Given the description of an element on the screen output the (x, y) to click on. 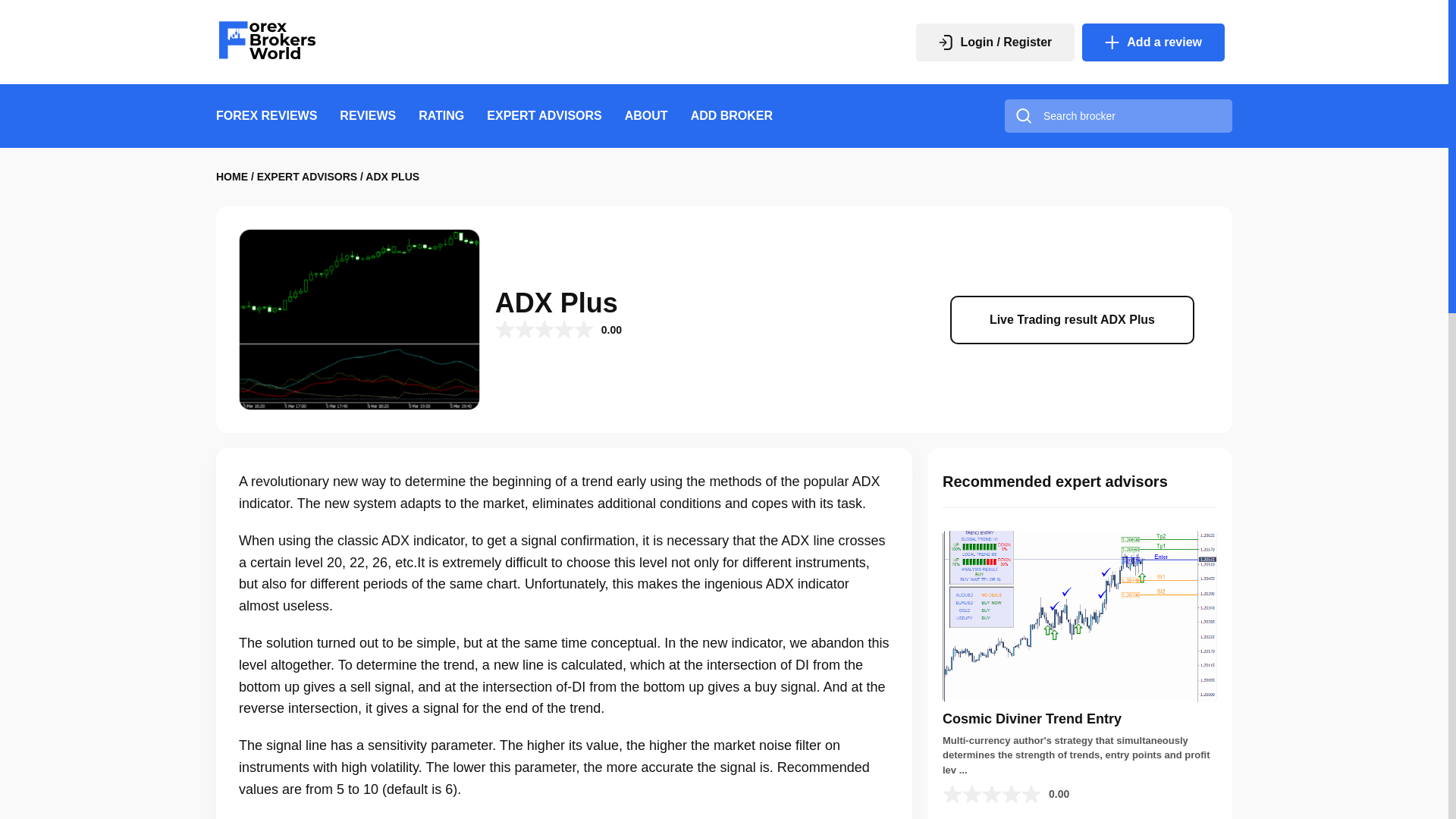
FOREX REVIEWS (266, 115)
Add a review (1152, 42)
Live Trading result ADX Plus (1071, 319)
RATING (441, 115)
HOME (231, 176)
ABOUT (646, 115)
ADD BROKER (731, 115)
EXPERT ADVISORS (543, 115)
EXPERT ADVISORS (307, 176)
REVIEWS (367, 115)
